Given the description of an element on the screen output the (x, y) to click on. 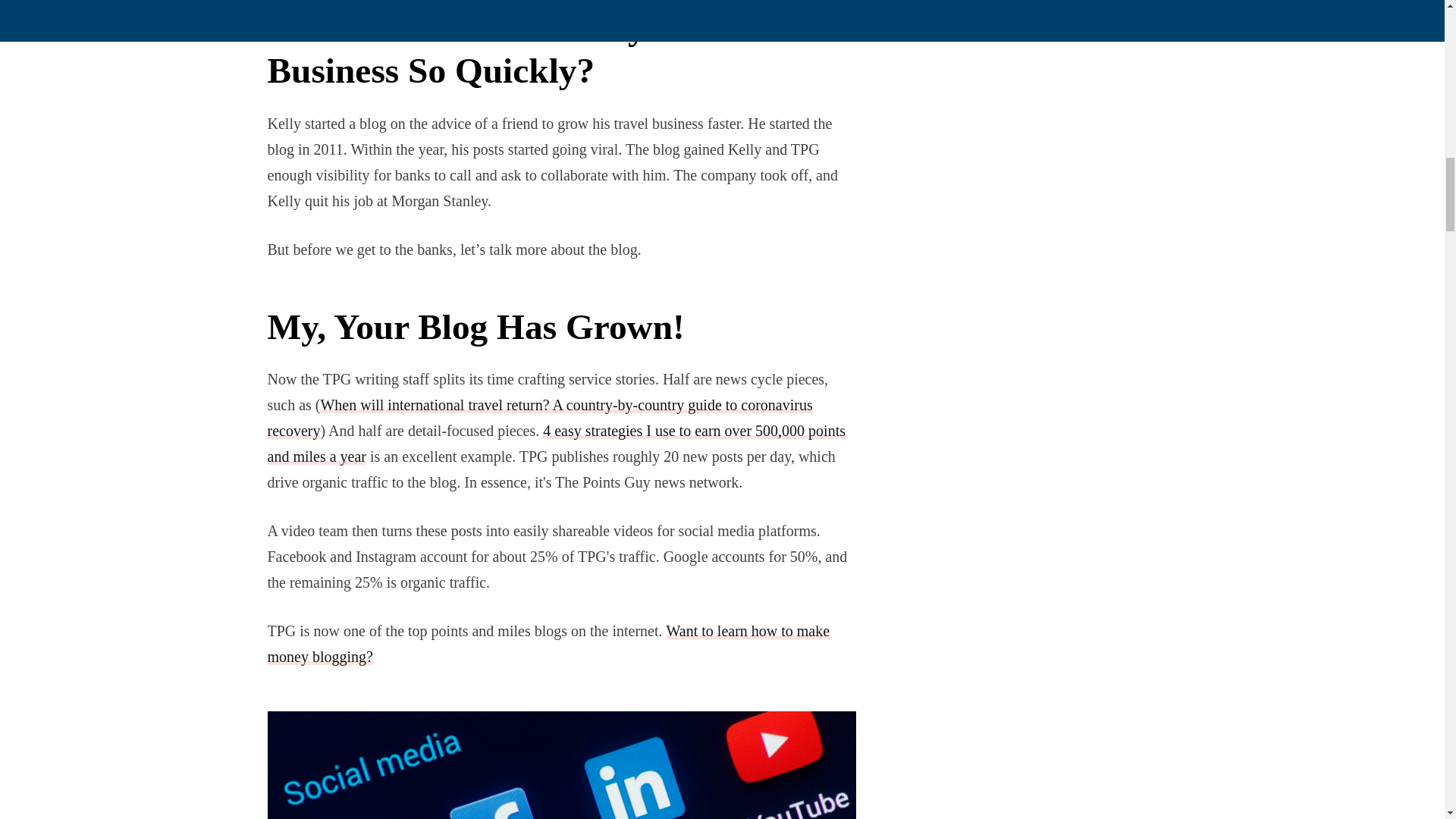
Want to learn how to make money blogging? (547, 643)
